Given the description of an element on the screen output the (x, y) to click on. 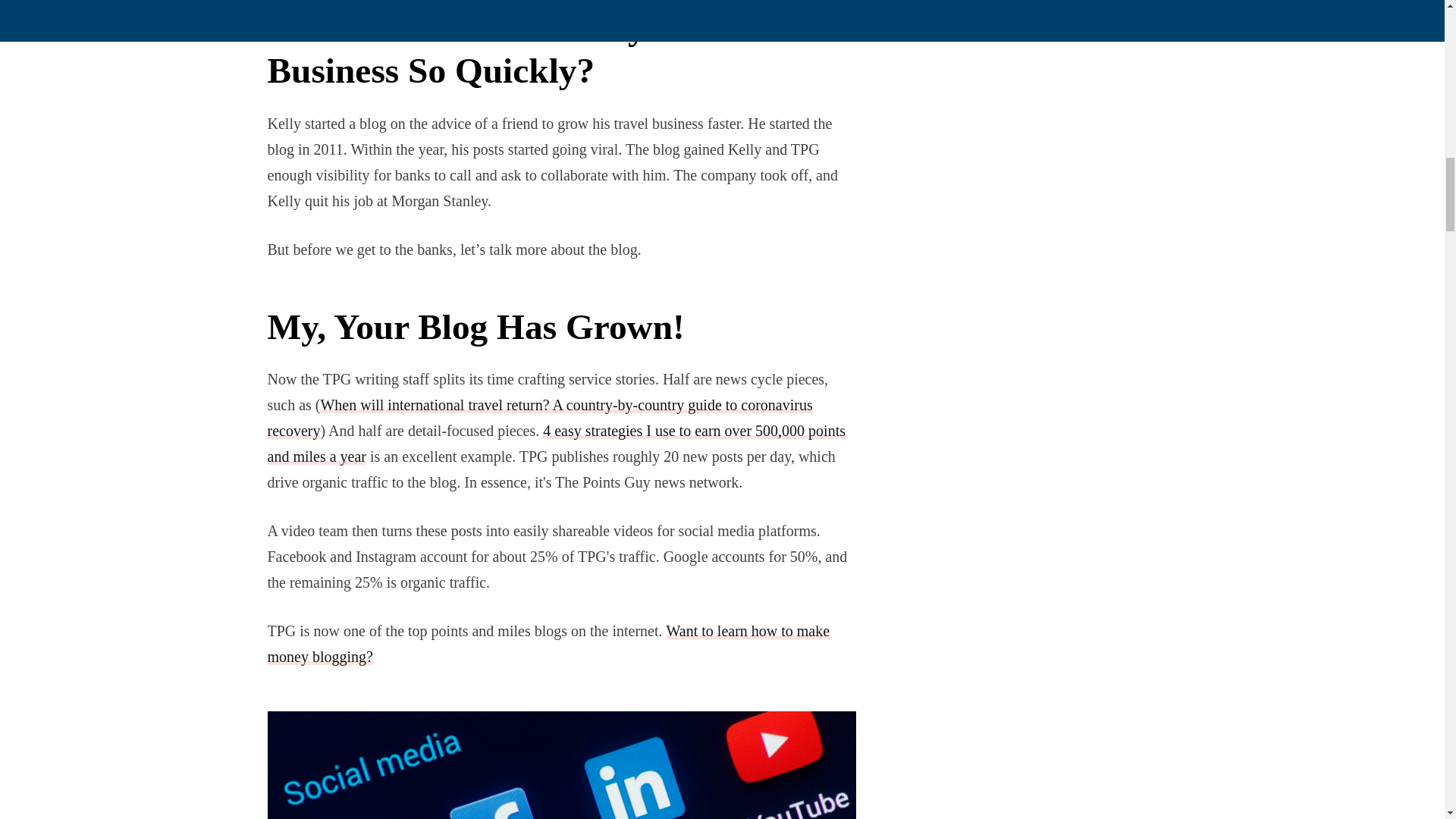
Want to learn how to make money blogging? (547, 643)
